Given the description of an element on the screen output the (x, y) to click on. 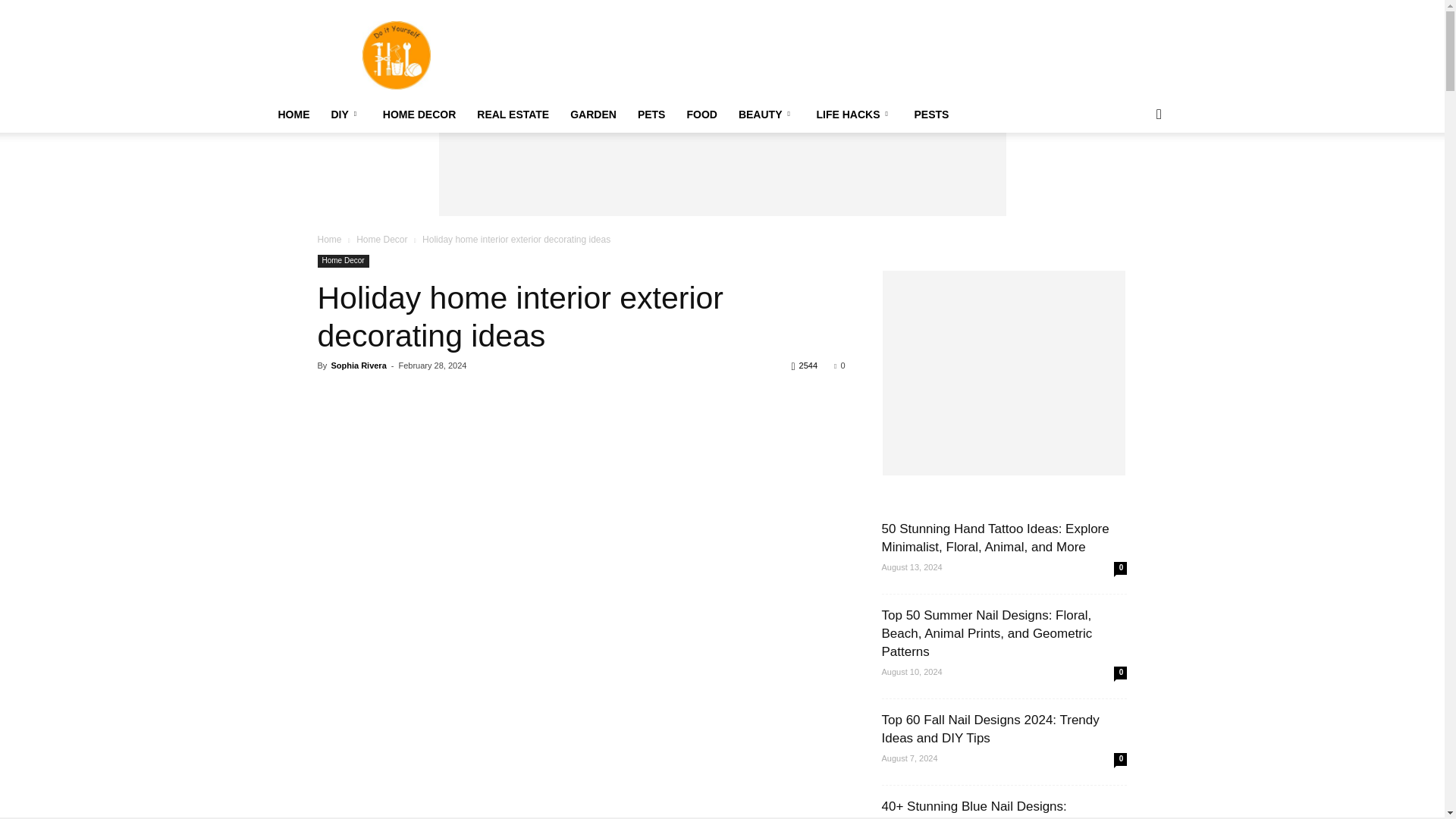
DIY (345, 114)
HOME (293, 114)
HOME DECOR (418, 114)
View all posts in Home Decor (381, 239)
PETS (652, 114)
REAL ESTATE (512, 114)
LIFE HACKS (853, 114)
BEAUTY (767, 114)
FOOD (700, 114)
GARDEN (593, 114)
